Given the description of an element on the screen output the (x, y) to click on. 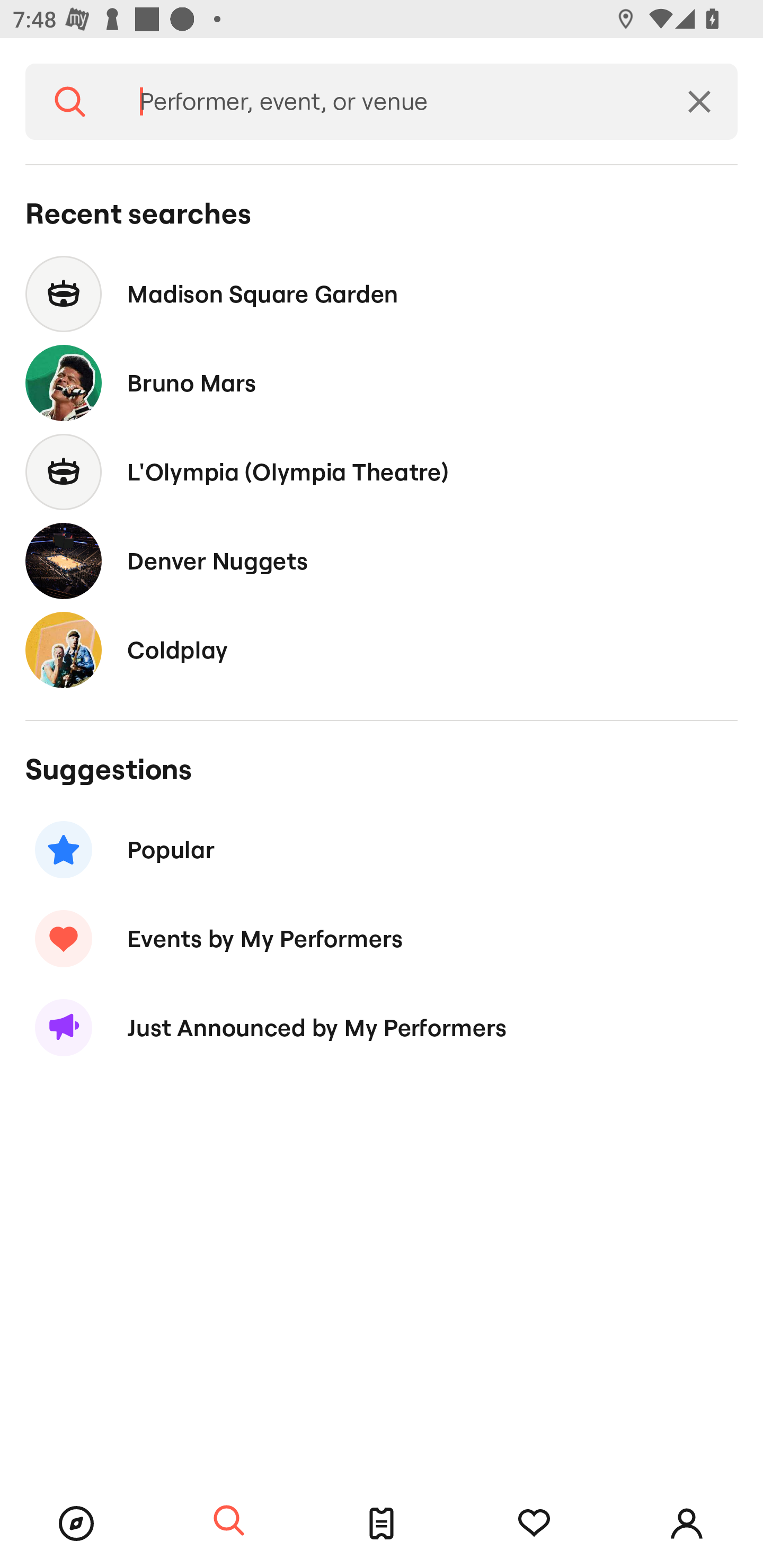
Search (69, 101)
Performer, event, or venue (387, 101)
Clear (699, 101)
Madison Square Garden (381, 293)
Bruno Mars (381, 383)
L'Olympia (Olympia Theatre) (381, 471)
Denver Nuggets (381, 560)
Coldplay (381, 649)
Popular (381, 849)
Events by My Performers (381, 938)
Just Announced by My Performers (381, 1027)
Browse (76, 1523)
Search (228, 1521)
Tickets (381, 1523)
Tracking (533, 1523)
Account (686, 1523)
